Given the description of an element on the screen output the (x, y) to click on. 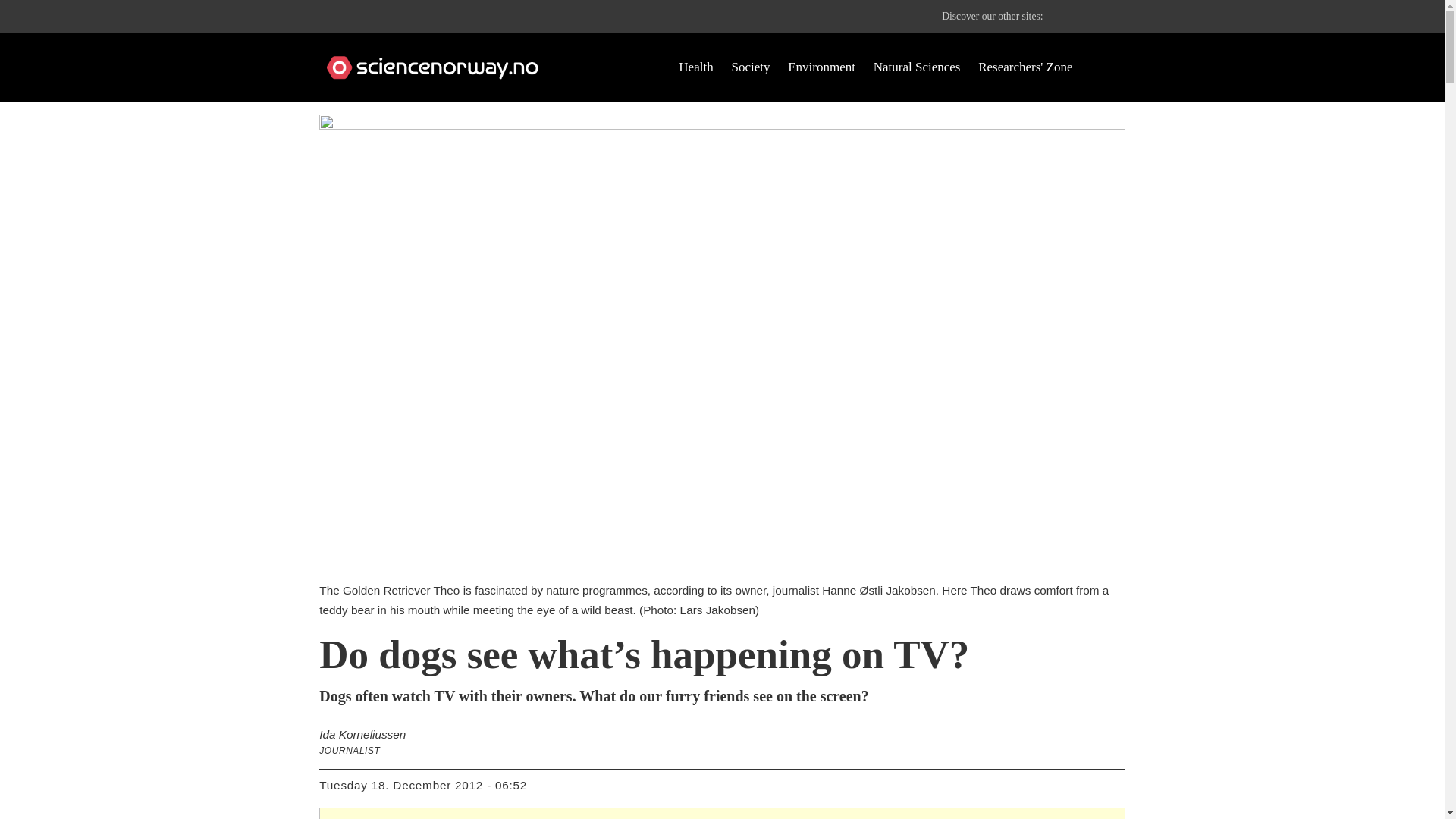
Society (750, 66)
 tuesday 18. December 2012 - 06:52 (422, 785)
Researchers' Zone (1024, 66)
Natural Sciences (916, 66)
Environment (821, 66)
Health (695, 66)
